Given the description of an element on the screen output the (x, y) to click on. 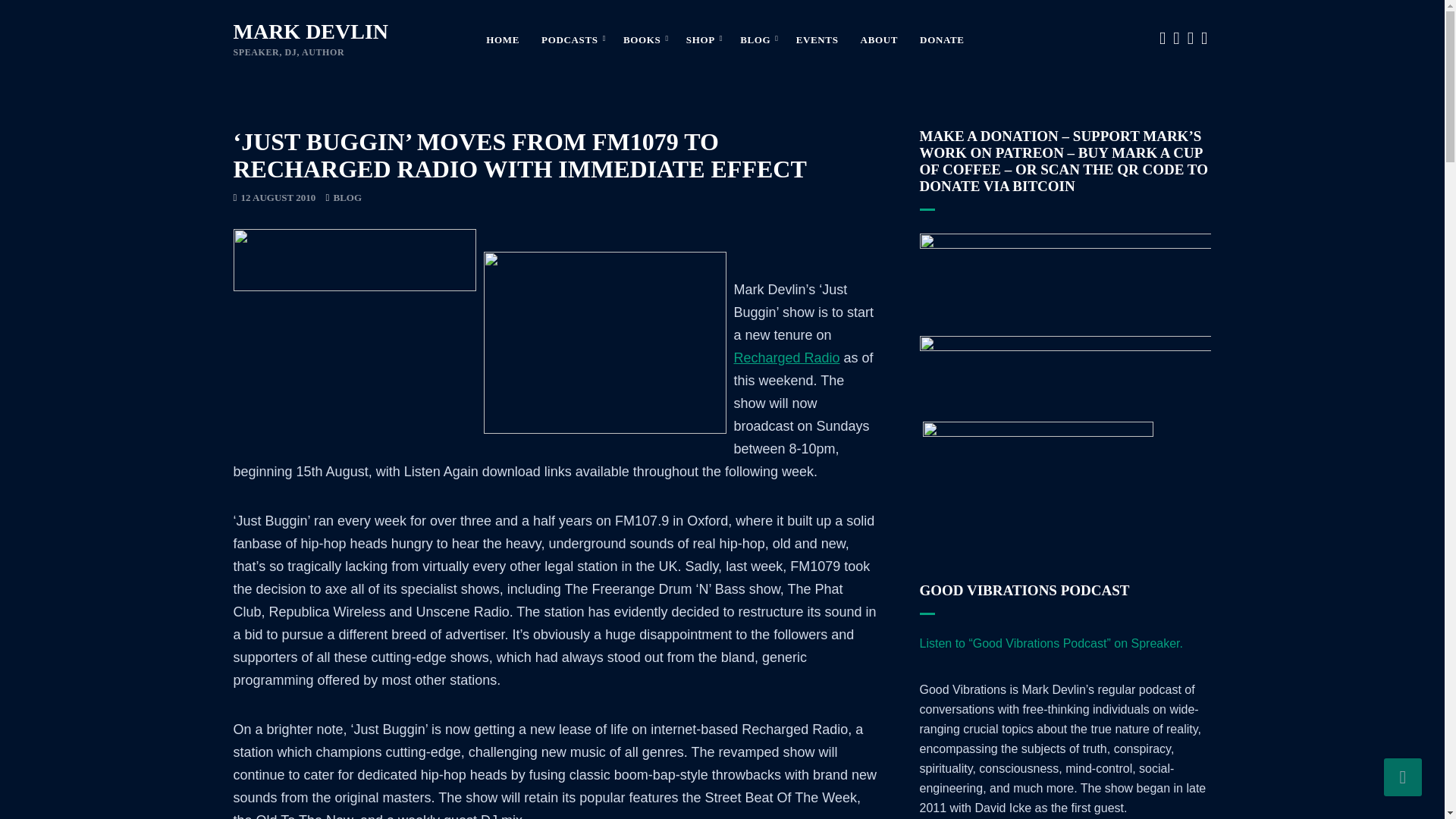
HOME (502, 40)
ABOUT (879, 40)
MARK DEVLIN (310, 31)
DONATE (941, 40)
Recharged Radio (786, 357)
BOOKS (643, 40)
BLOG (756, 40)
SHOP (701, 40)
EVENTS (817, 40)
PODCASTS (571, 40)
